Given the description of an element on the screen output the (x, y) to click on. 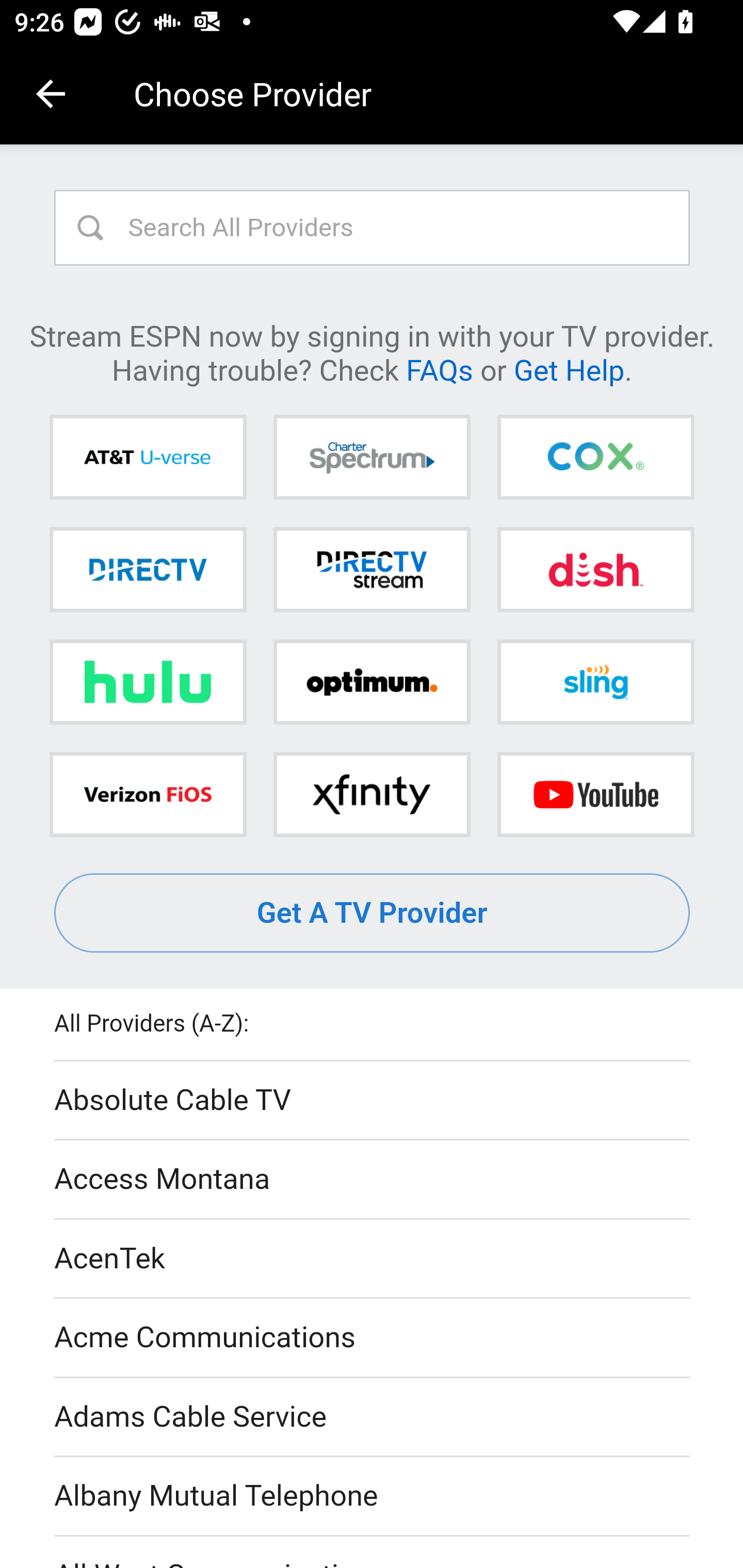
Navigate up (50, 93)
FAQs (438, 369)
Get Help (569, 369)
AT&T U-verse (147, 457)
Charter Spectrum (371, 457)
Cox (595, 457)
DIRECTV (147, 568)
DIRECTV STREAM (371, 568)
DISH (595, 568)
Hulu (147, 681)
Optimum (371, 681)
Sling TV (595, 681)
Verizon FiOS (147, 793)
Xfinity (371, 793)
YouTube TV (595, 793)
Get A TV Provider (372, 912)
Absolute Cable TV (372, 1100)
Access Montana (372, 1178)
AcenTek (372, 1258)
Acme Communications (372, 1338)
Adams Cable Service (372, 1417)
Albany Mutual Telephone (372, 1497)
